Given the description of an element on the screen output the (x, y) to click on. 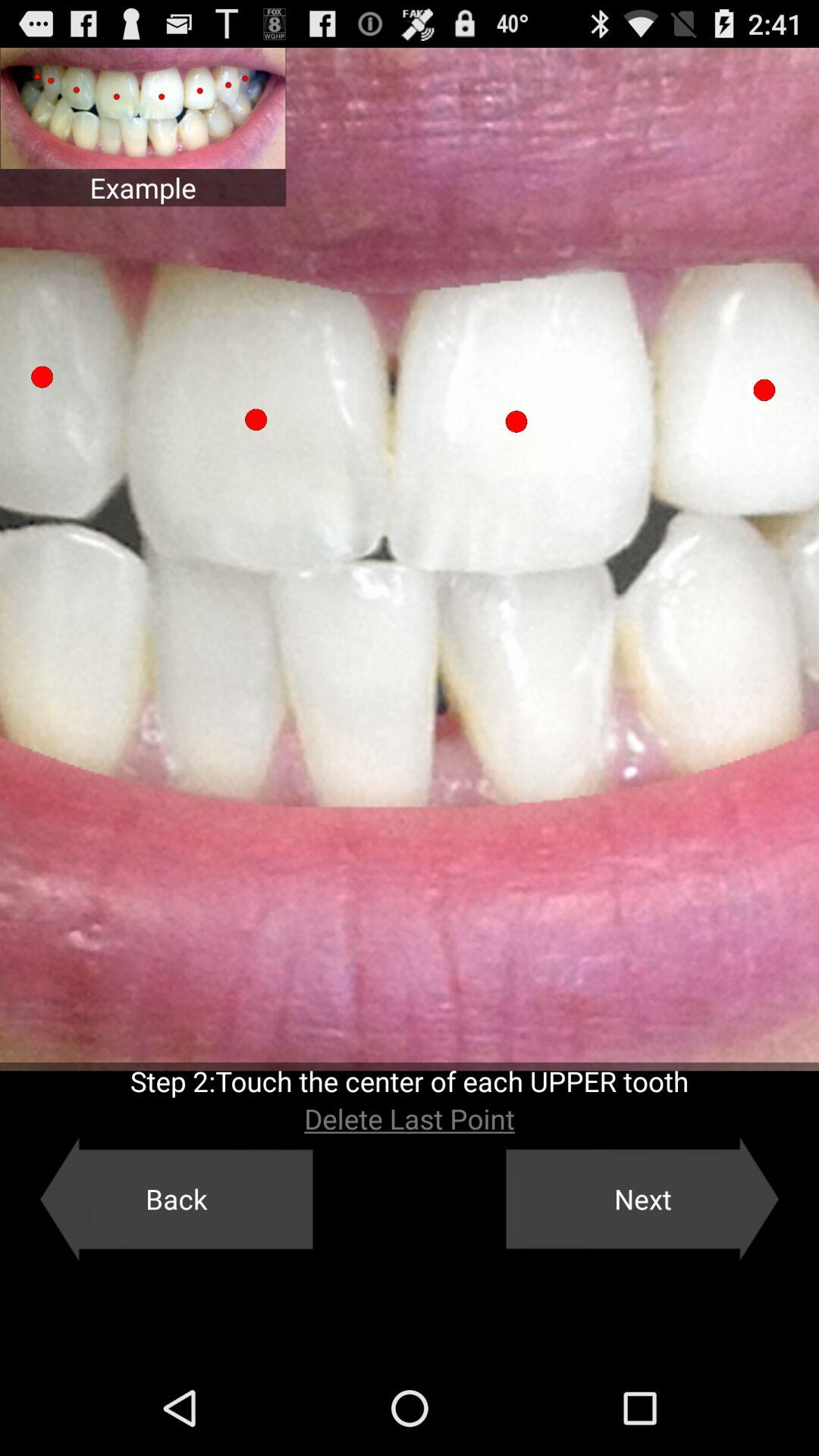
launch icon to the right of the back item (642, 1198)
